Given the description of an element on the screen output the (x, y) to click on. 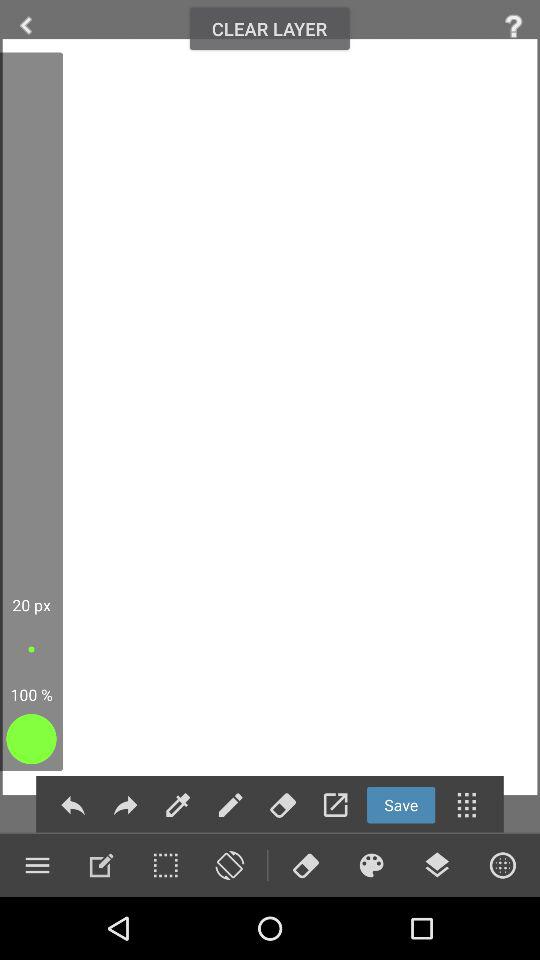
erase the option (305, 865)
